Given the description of an element on the screen output the (x, y) to click on. 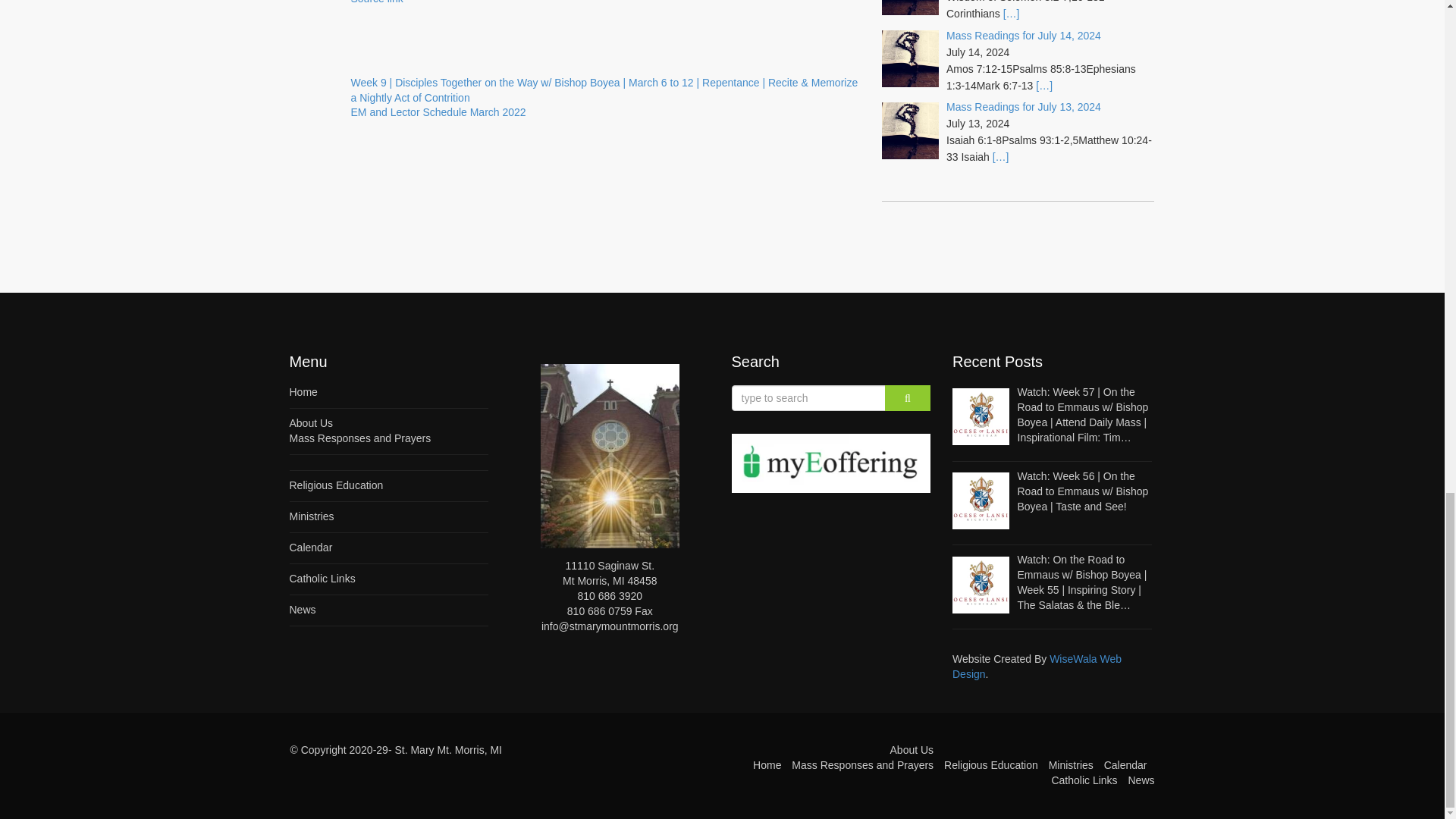
Mass Responses and Prayers (359, 438)
About Us (311, 422)
Home (303, 391)
Source link (376, 2)
Calendar (437, 111)
Catholic Links (311, 547)
Religious Education (322, 578)
Ministries (336, 485)
Mass Readings for July 14, 2024 (311, 516)
Mass Readings for July 13, 2024 (1023, 35)
